Given the description of an element on the screen output the (x, y) to click on. 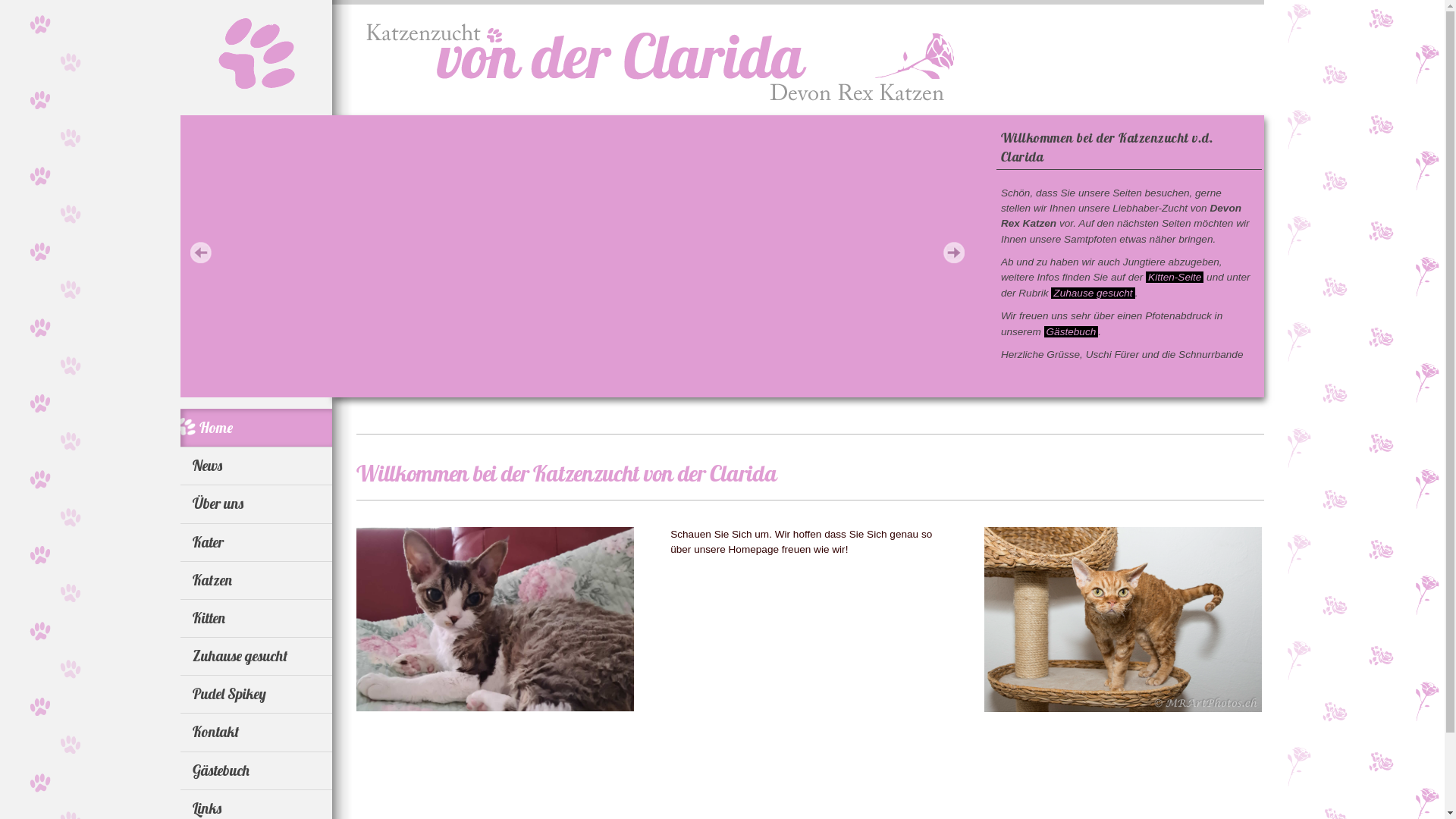
Kitten-Seite Element type: text (1174, 276)
Kontakt Element type: text (256, 731)
News Element type: text (256, 465)
Zuhause gesucht Element type: text (1092, 292)
Zuhause gesucht Element type: text (256, 655)
Pudel Spikey Element type: text (256, 693)
Katzen Element type: text (256, 580)
< Element type: text (199, 252)
Kater Element type: text (256, 542)
> Element type: text (953, 252)
Kitten Element type: text (256, 618)
Home Element type: text (256, 427)
